Given the description of an element on the screen output the (x, y) to click on. 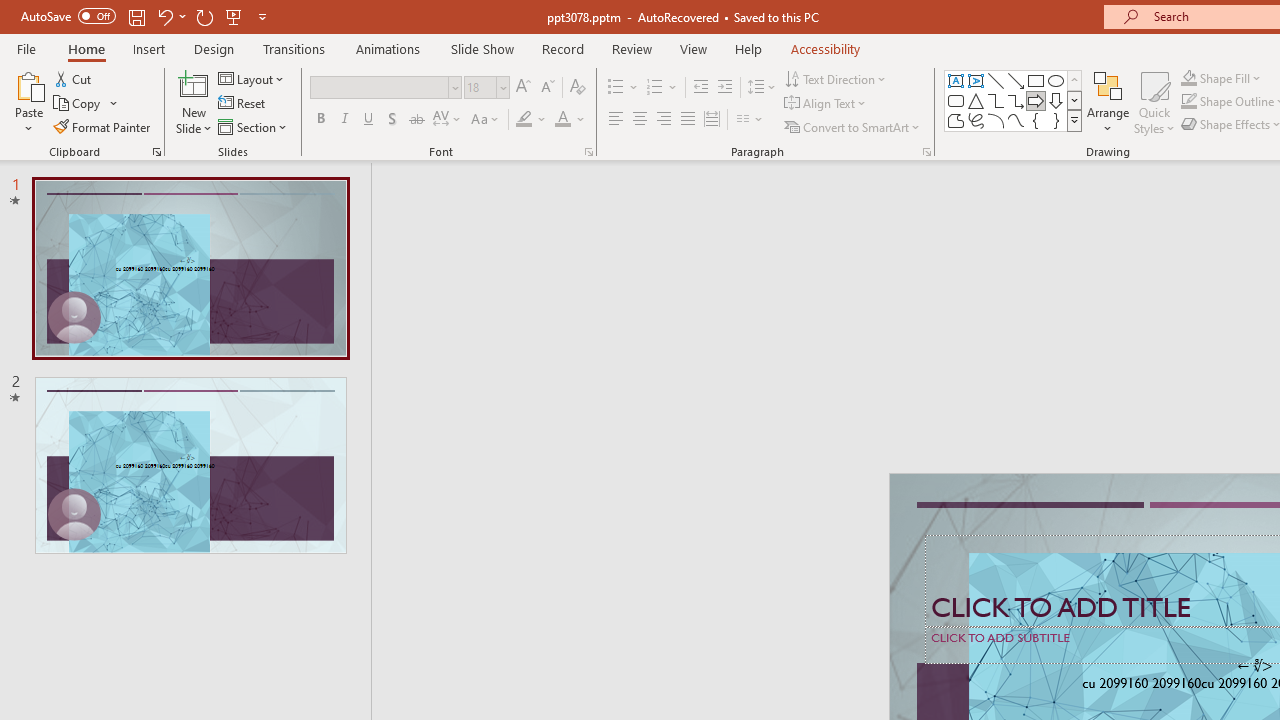
Office Clipboard... (156, 151)
Bold (320, 119)
Columns (750, 119)
Distributed (712, 119)
Strikethrough (416, 119)
Convert to SmartArt (853, 126)
